Given the description of an element on the screen output the (x, y) to click on. 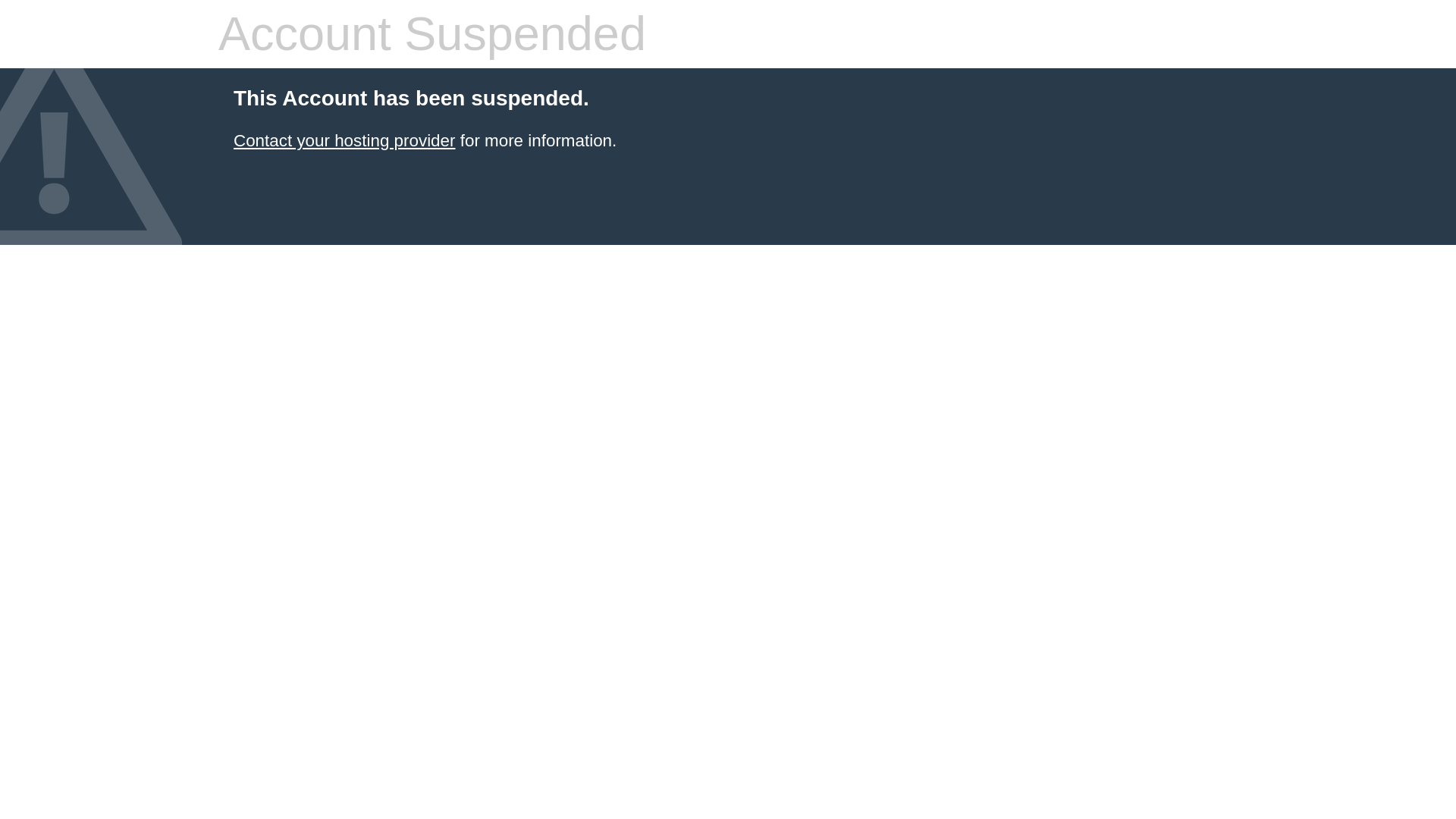
NameHero.com (343, 140)
Contact your hosting provider (343, 140)
